Given the description of an element on the screen output the (x, y) to click on. 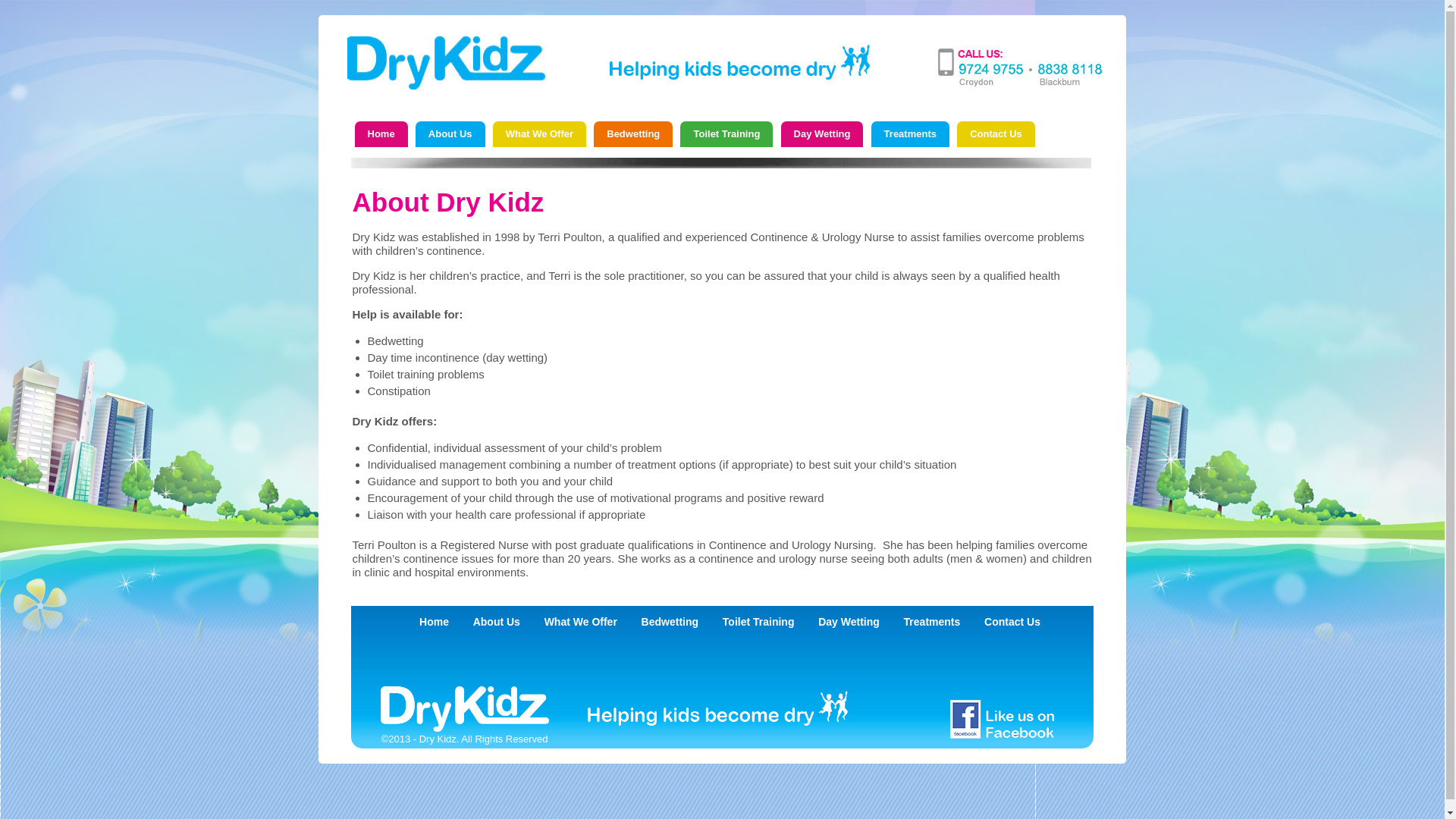
Contact Us Element type: text (1012, 621)
Toilet Training Element type: text (758, 621)
Day Wetting Element type: text (848, 621)
What We Offer Element type: text (539, 134)
Contact Us Element type: text (995, 134)
About Us Element type: text (450, 134)
Bedwetting Element type: text (669, 621)
About Us Element type: text (496, 621)
Treatments Element type: text (910, 134)
Toilet Training Element type: text (726, 134)
What We Offer Element type: text (580, 621)
Day Wetting Element type: text (821, 134)
Treatments Element type: text (932, 621)
Bedwetting Element type: text (632, 134)
Home Element type: text (380, 134)
Home Element type: text (433, 621)
